Given the description of an element on the screen output the (x, y) to click on. 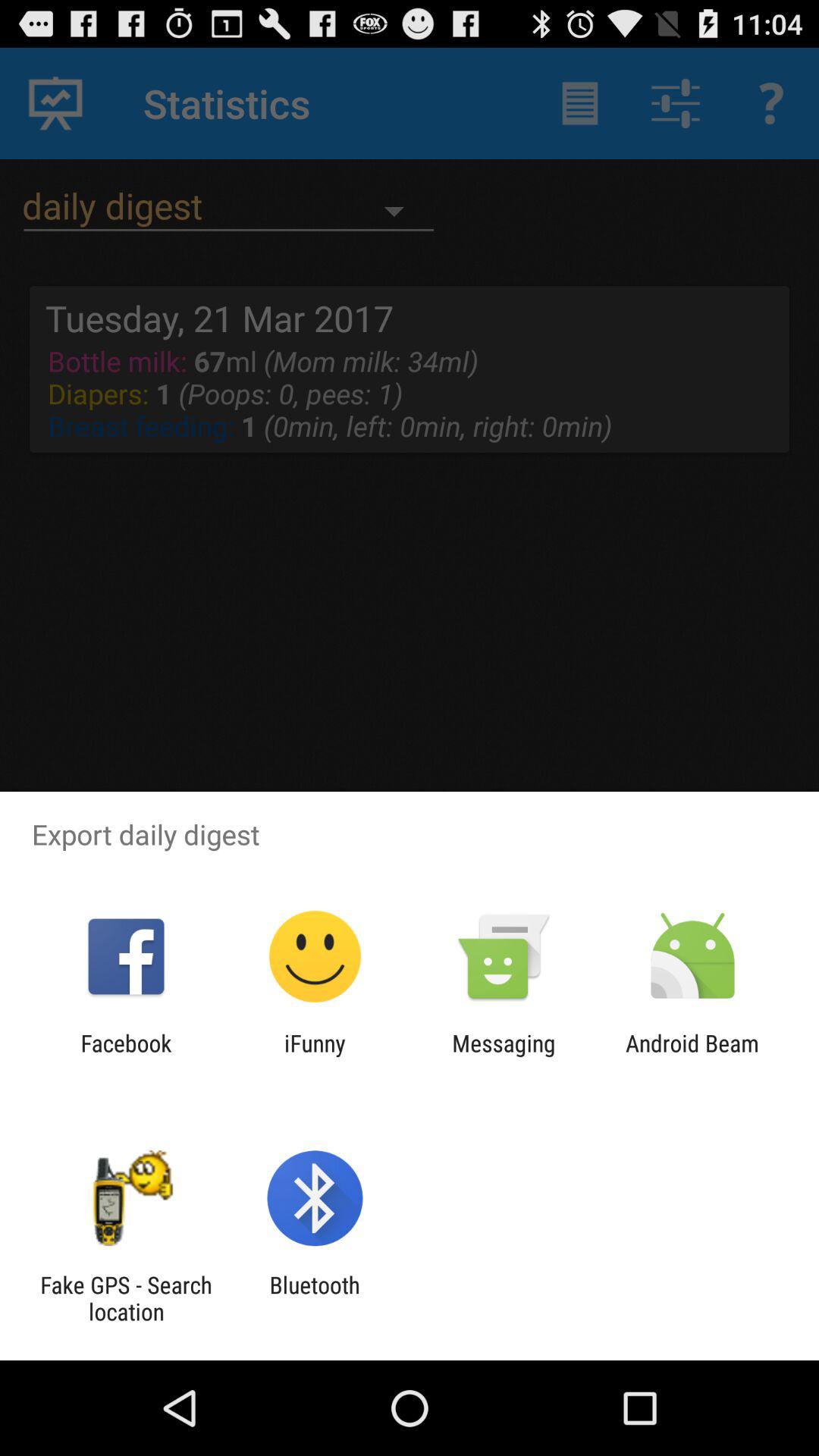
turn on android beam item (692, 1056)
